Given the description of an element on the screen output the (x, y) to click on. 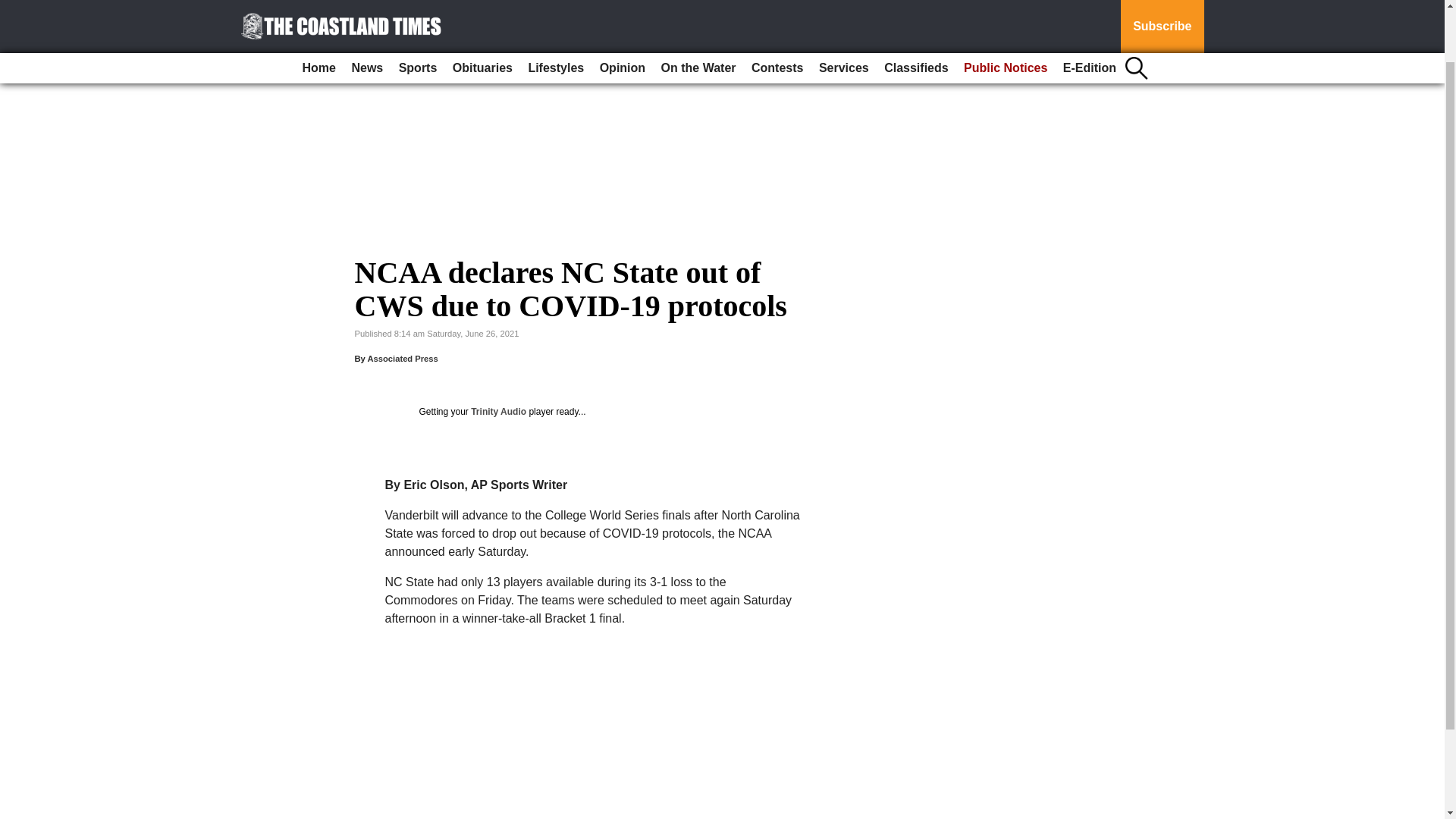
E-Edition (1089, 10)
Lifestyles (555, 10)
Obituaries (482, 10)
Services (843, 10)
Sports (418, 10)
Opinion (622, 10)
Trinity Audio (497, 411)
News (366, 10)
Public Notices (1005, 10)
Home (319, 10)
